Given the description of an element on the screen output the (x, y) to click on. 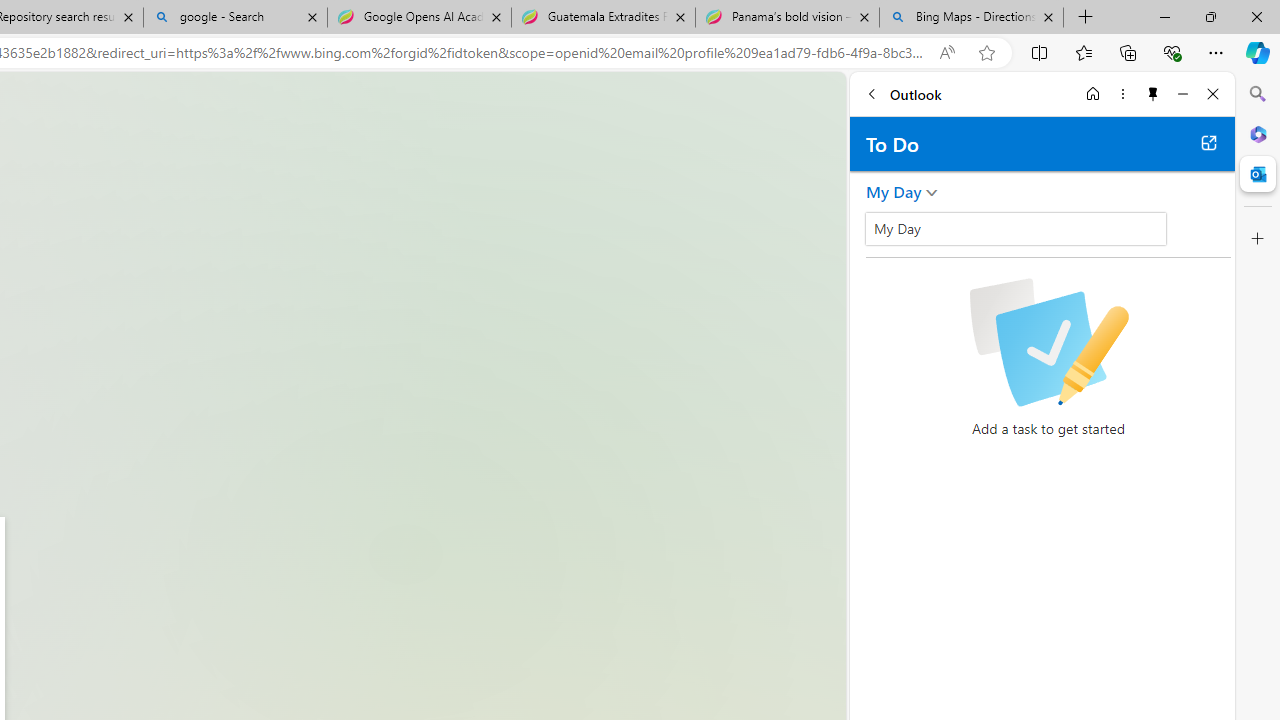
Class: wL_Ii70haOUOvHnsRwbD (1016, 228)
Google Opens AI Academy for Startups - Nearshore Americas (418, 17)
